Given the description of an element on the screen output the (x, y) to click on. 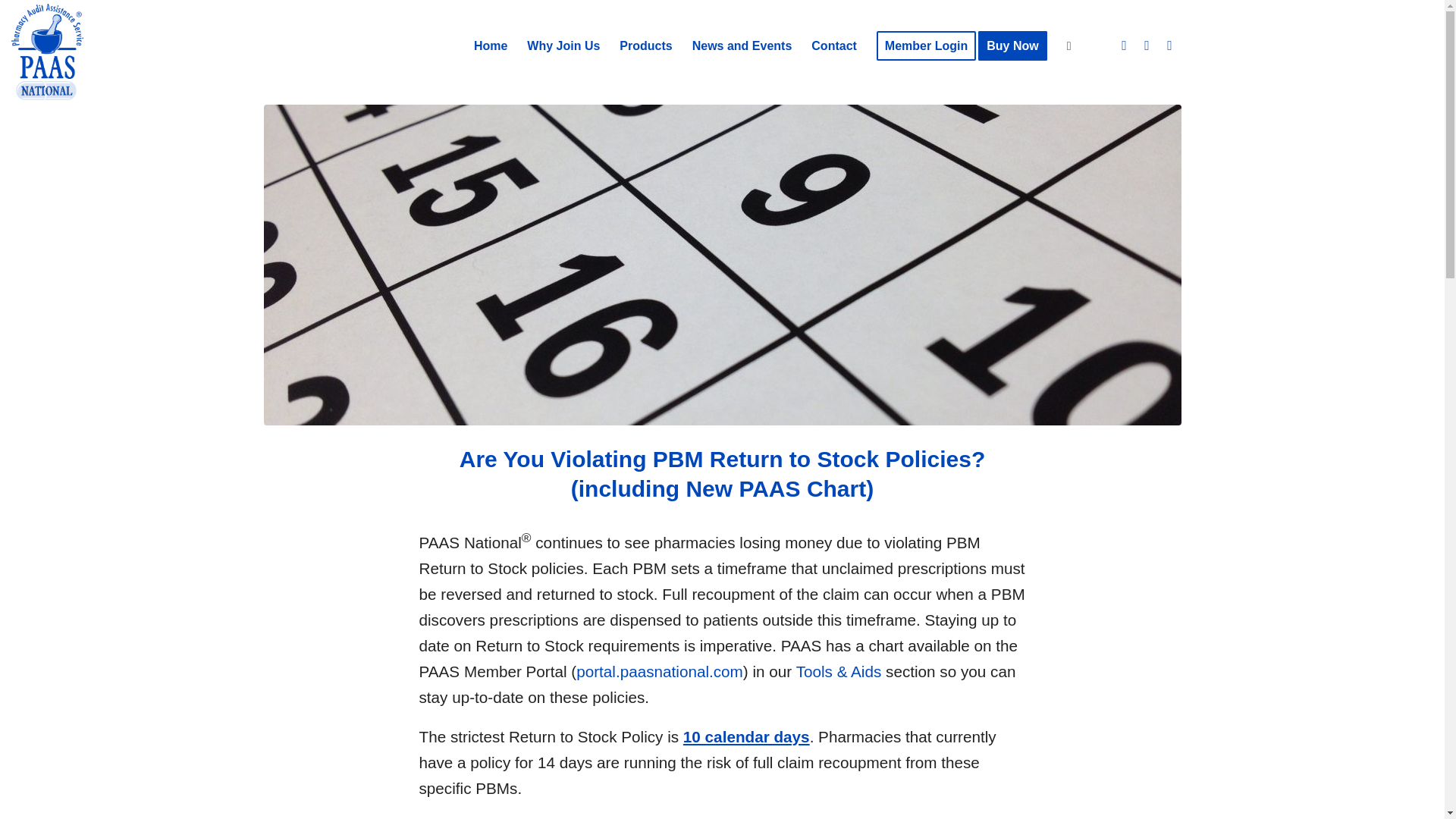
portal.paasnational.com (659, 671)
X (1169, 45)
Member Login (925, 45)
Buy Now (1017, 45)
Products (645, 45)
LinkedIn (1146, 45)
Products (645, 45)
Facebook (1124, 45)
Why Join Us (563, 45)
News and Events (742, 45)
